Given the description of an element on the screen output the (x, y) to click on. 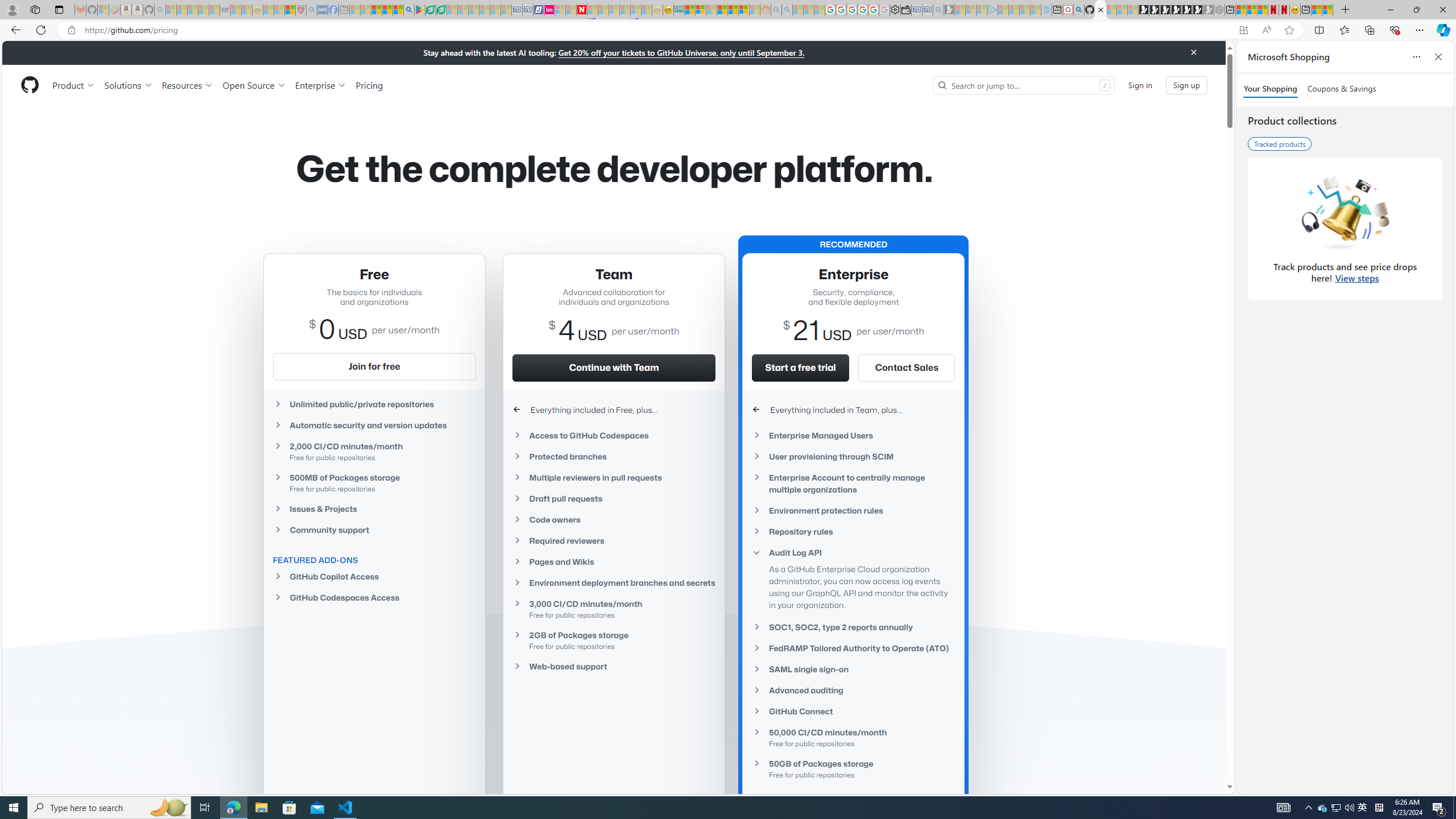
Play Cave FRVR in your browser | Games from Microsoft Start (1164, 9)
50,000 CI/CD minutes/month Free for public repositories (853, 737)
Everything included in Free, plus... (614, 409)
3,000 CI/CD minutes/monthFree for public repositories (614, 608)
